Given the description of an element on the screen output the (x, y) to click on. 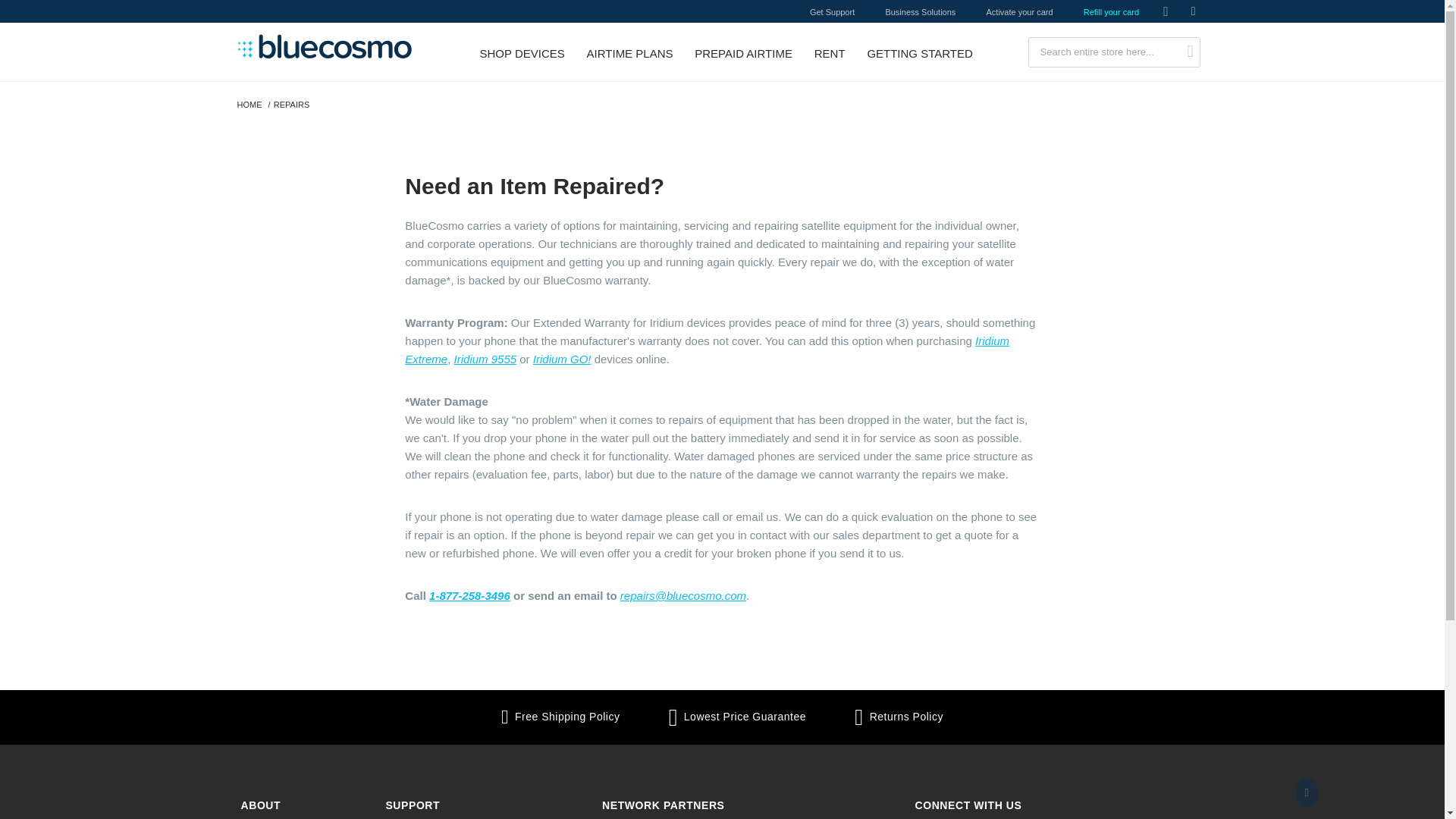
Refill your card (1110, 11)
Get Support (831, 11)
Business Solutions (920, 11)
Activate your card (1019, 11)
BlueCosmo Satellite Communications (357, 52)
Satellite Communications (357, 52)
SHOP DEVICES (521, 51)
